Given the description of an element on the screen output the (x, y) to click on. 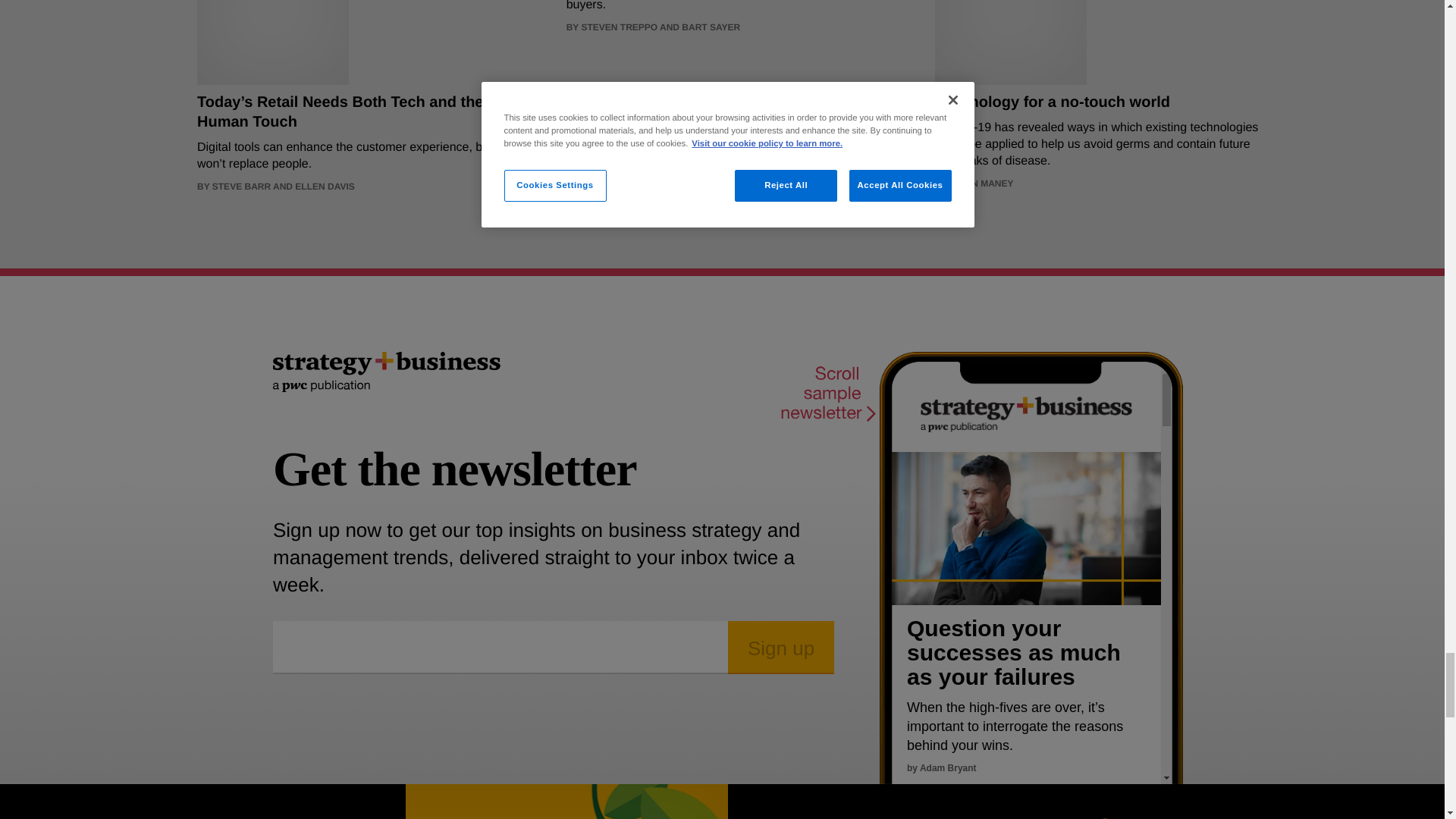
Sign up (781, 647)
